Given the description of an element on the screen output the (x, y) to click on. 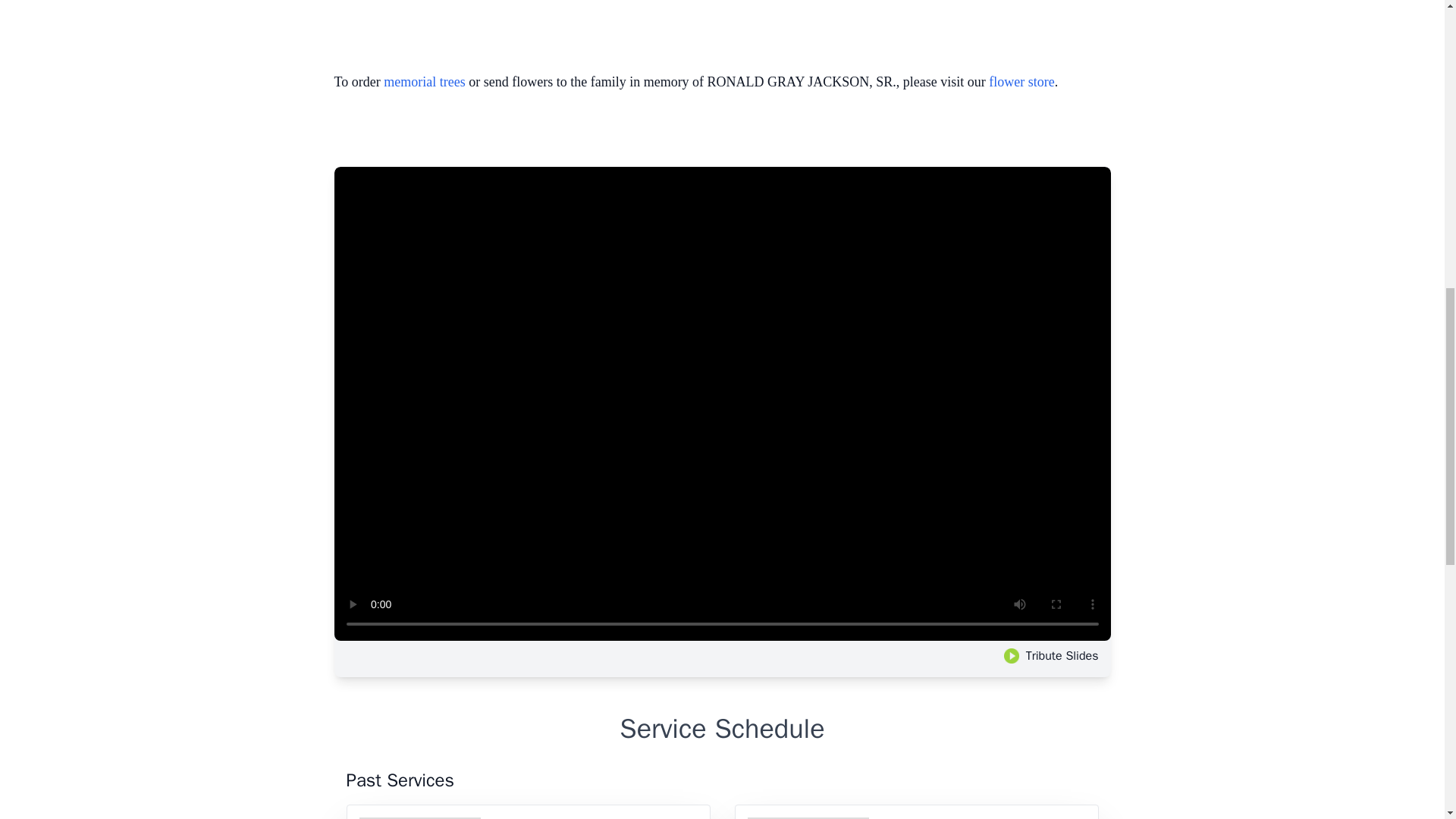
memorial trees (424, 81)
flower store (1021, 81)
